Given the description of an element on the screen output the (x, y) to click on. 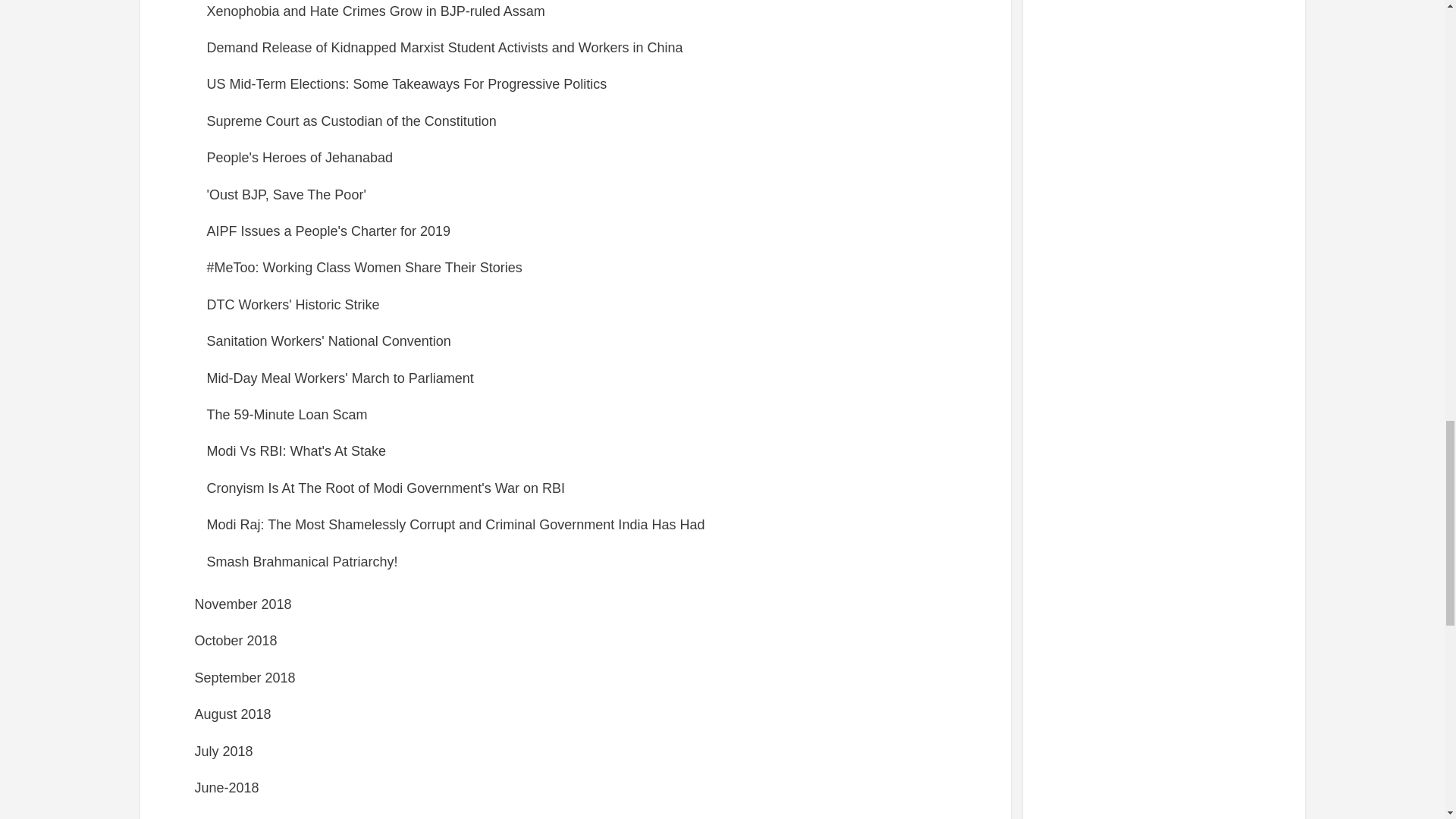
July 2018 (222, 750)
June-2018 (226, 787)
May 2018 (223, 817)
